Given the description of an element on the screen output the (x, y) to click on. 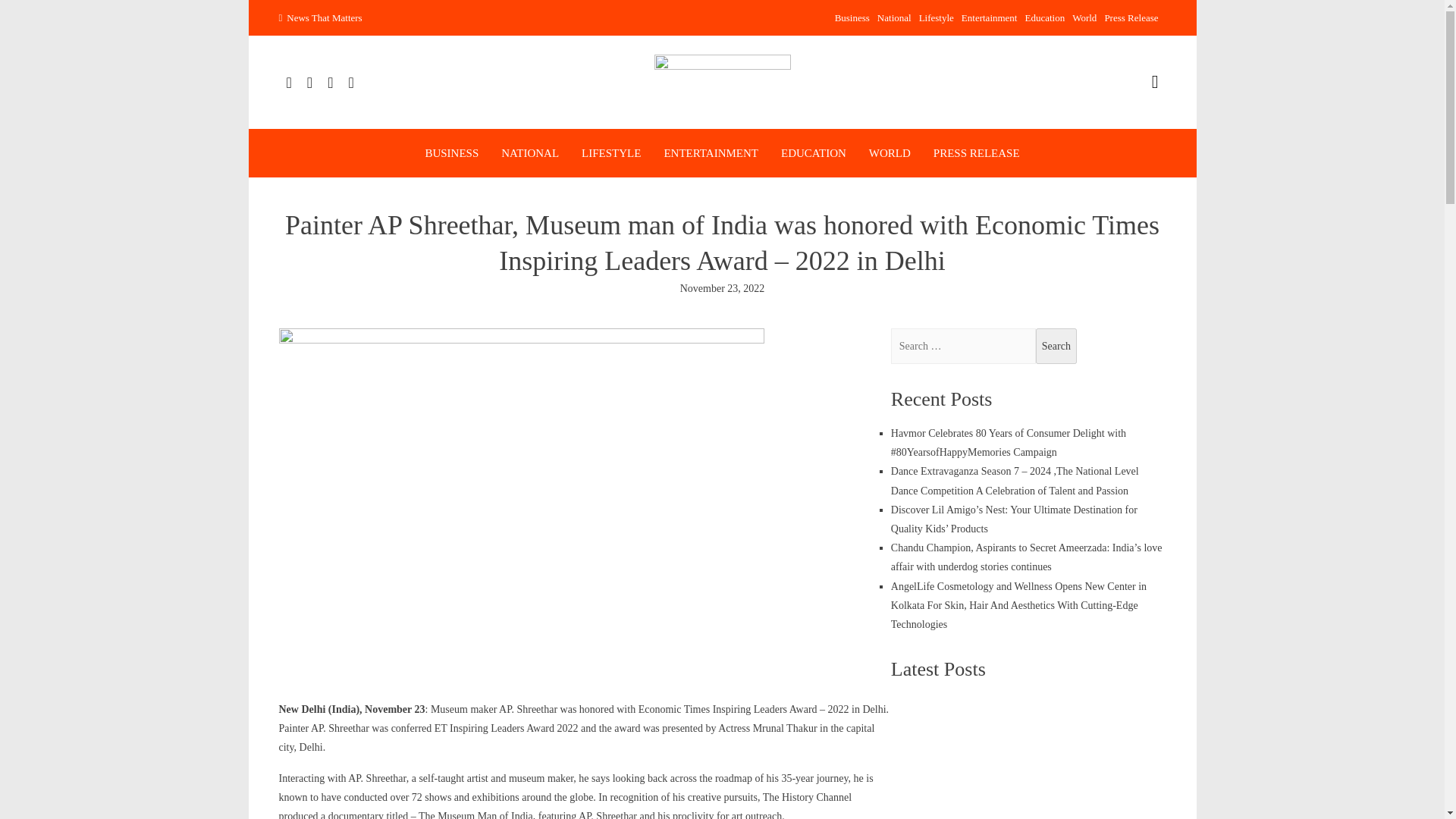
EDUCATION (812, 152)
World (1083, 17)
Education (1044, 17)
BUSINESS (452, 152)
Business (851, 17)
WORLD (890, 152)
Entertainment (988, 17)
LIFESTYLE (610, 152)
Press Release (1130, 17)
Search (1056, 345)
NATIONAL (529, 152)
Search (1056, 345)
PRESS RELEASE (976, 152)
Search (1056, 345)
